Given the description of an element on the screen output the (x, y) to click on. 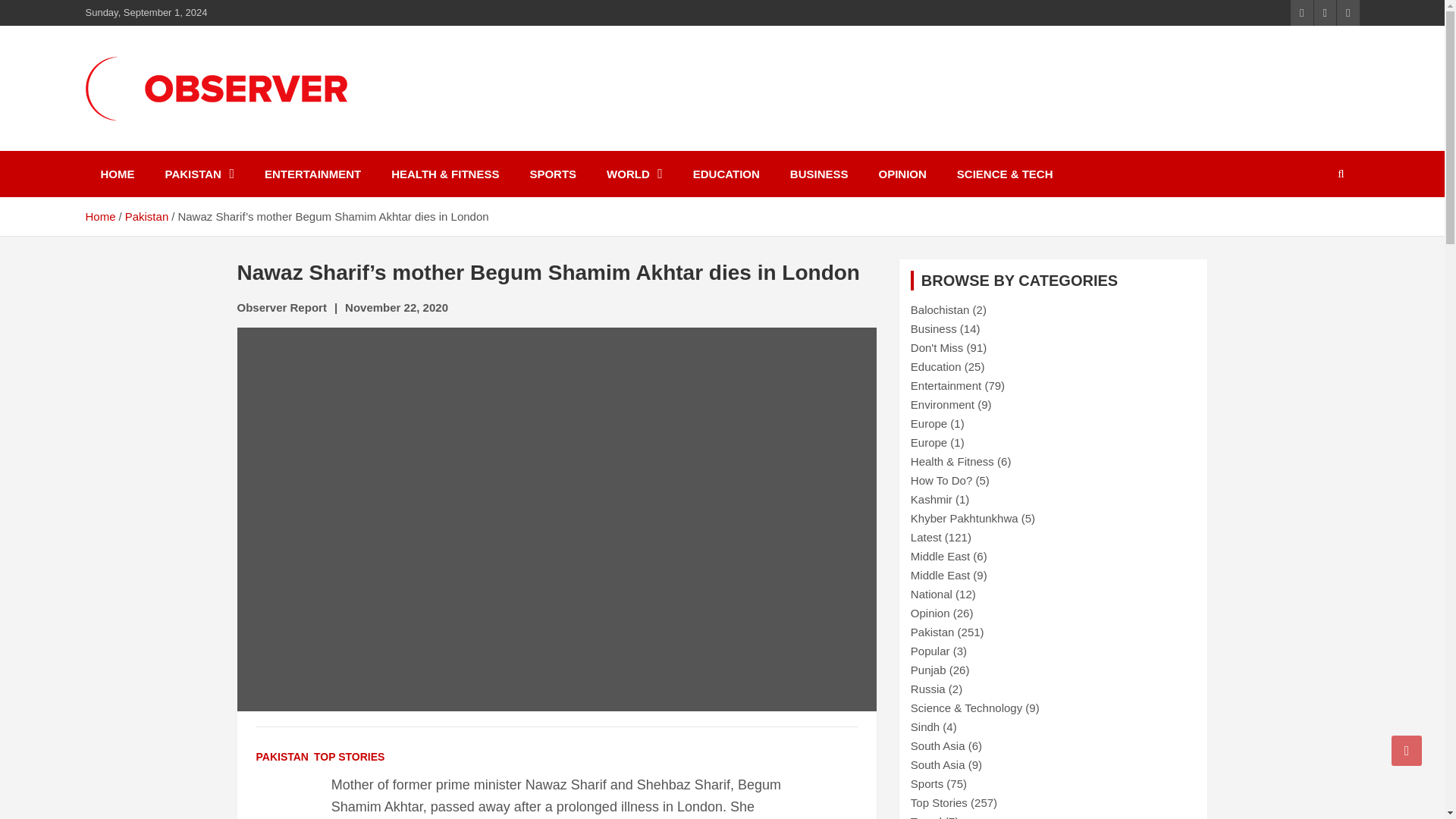
Pakistan (146, 215)
EDUCATION (726, 173)
The Pakistan Observer Digital (248, 159)
OPINION (901, 173)
ENTERTAINMENT (311, 173)
November 22, 2020 (396, 307)
SPORTS (552, 173)
WORLD (634, 173)
Observer Report (280, 307)
Home (99, 215)
